Given the description of an element on the screen output the (x, y) to click on. 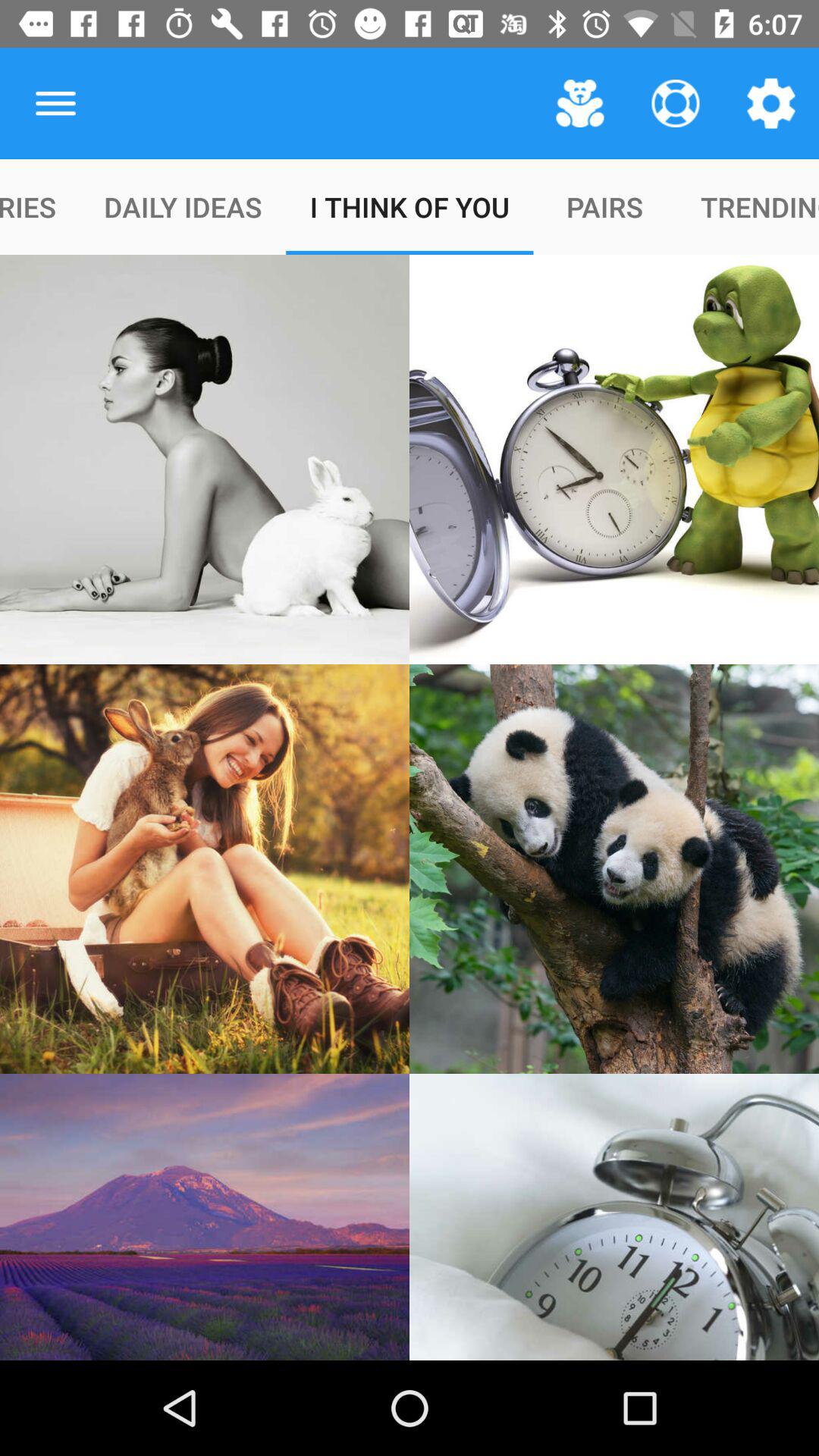
click item above pairs icon (579, 103)
